Given the description of an element on the screen output the (x, y) to click on. 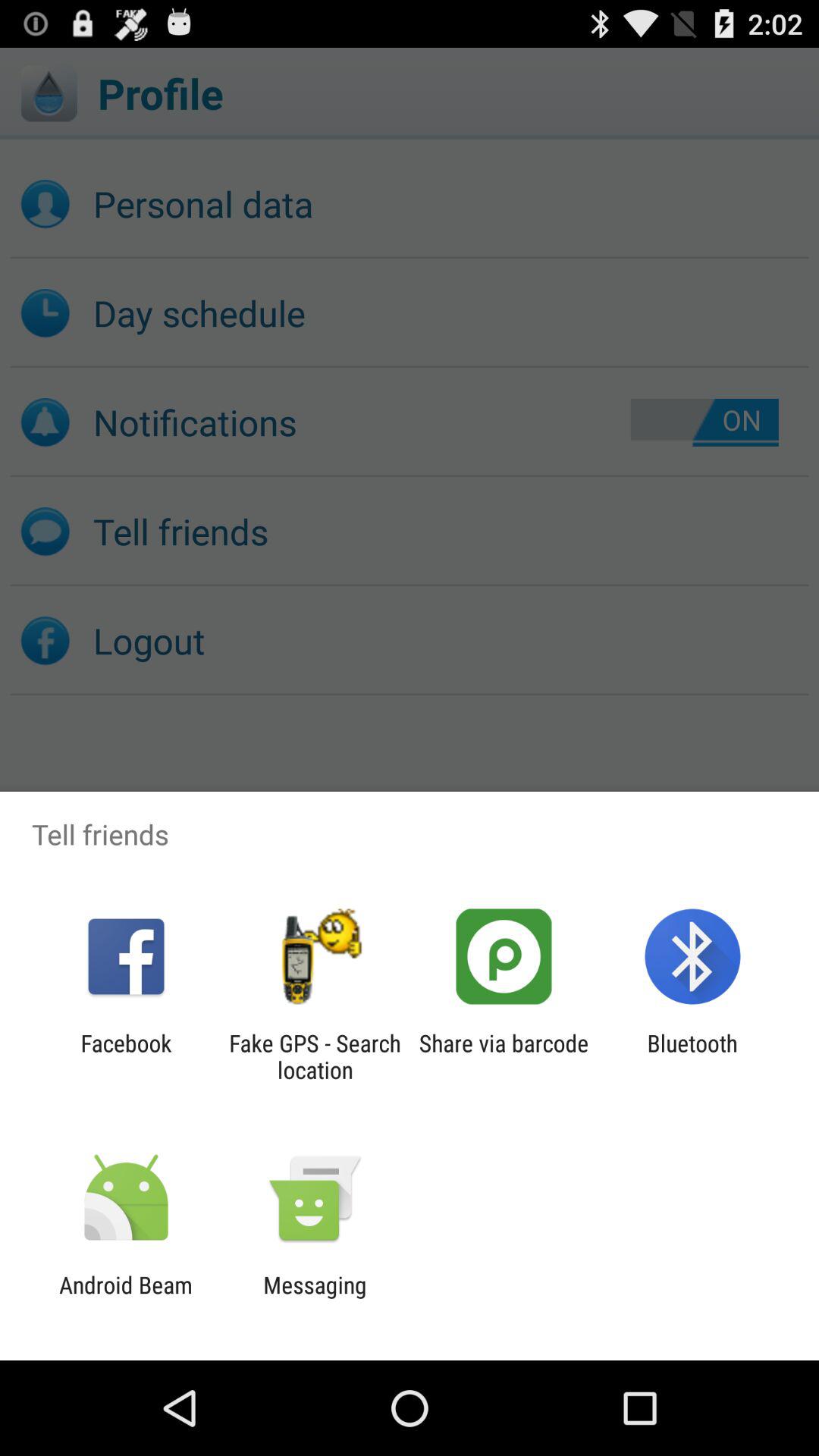
select app to the right of fake gps search item (503, 1056)
